Given the description of an element on the screen output the (x, y) to click on. 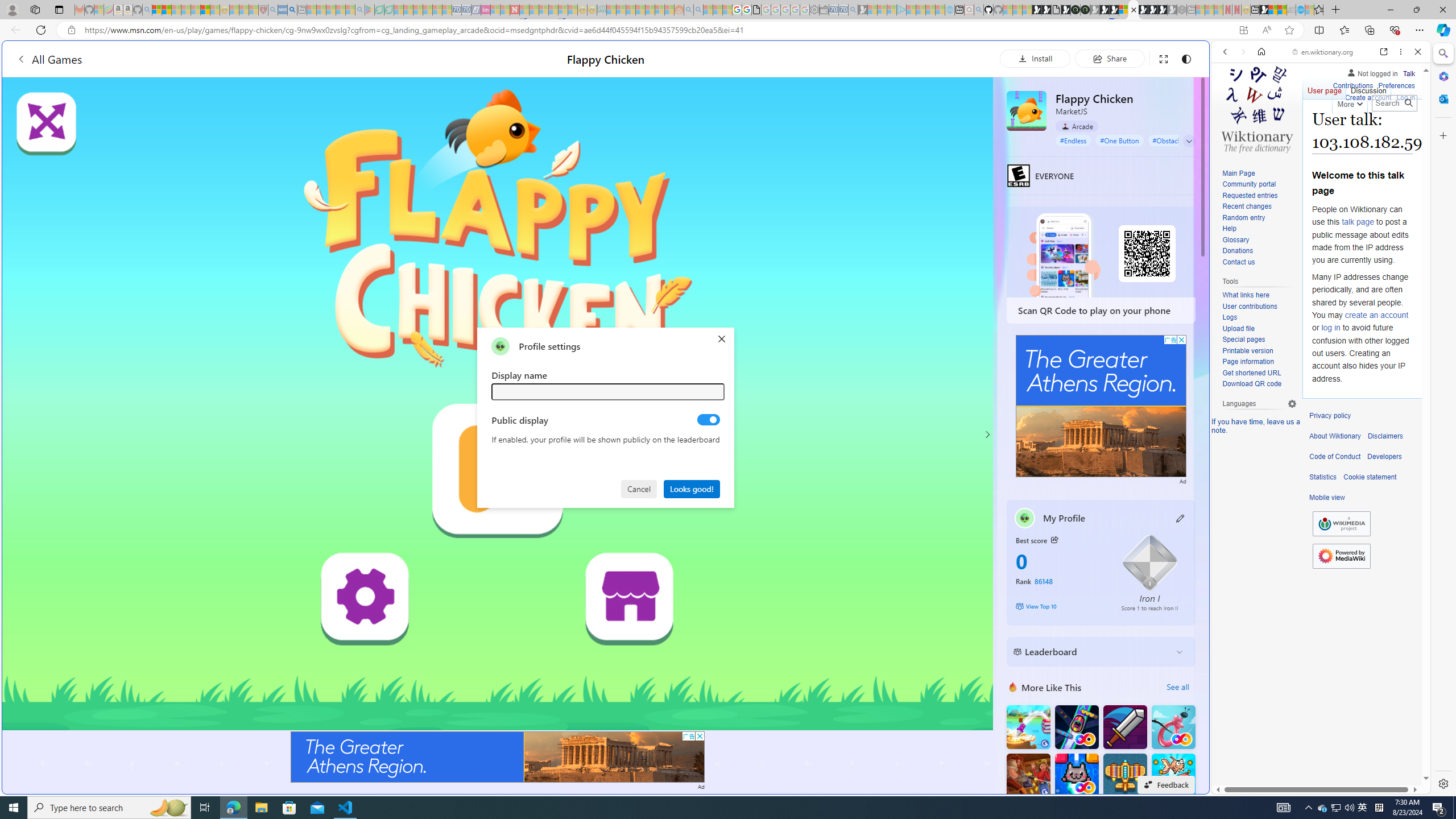
Recent changes (1246, 206)
Expert Portfolios - Sleeping (639, 9)
Terms of Use Agreement - Sleeping (378, 9)
Share (1109, 58)
Full screen (1163, 58)
Balloon FRVR (1173, 726)
Glossary (1259, 240)
SEARCH TOOLS (1350, 130)
Play Zoo Boom in your browser | Games from Microsoft Start (1045, 9)
